Given the description of an element on the screen output the (x, y) to click on. 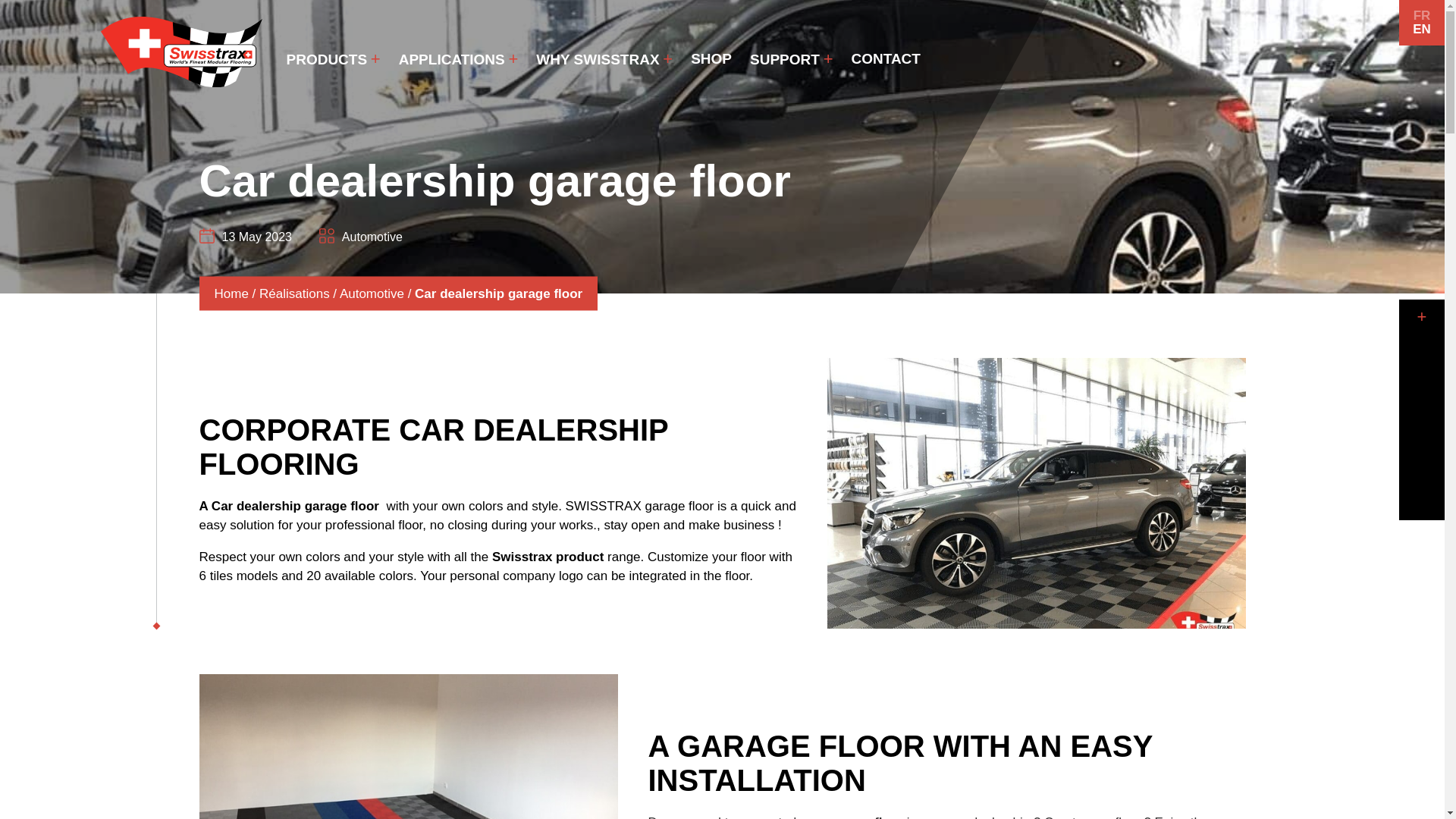
PRODUCTS (327, 59)
APPLICATIONS (451, 59)
WHY SWISSTRAX (597, 59)
